Given the description of an element on the screen output the (x, y) to click on. 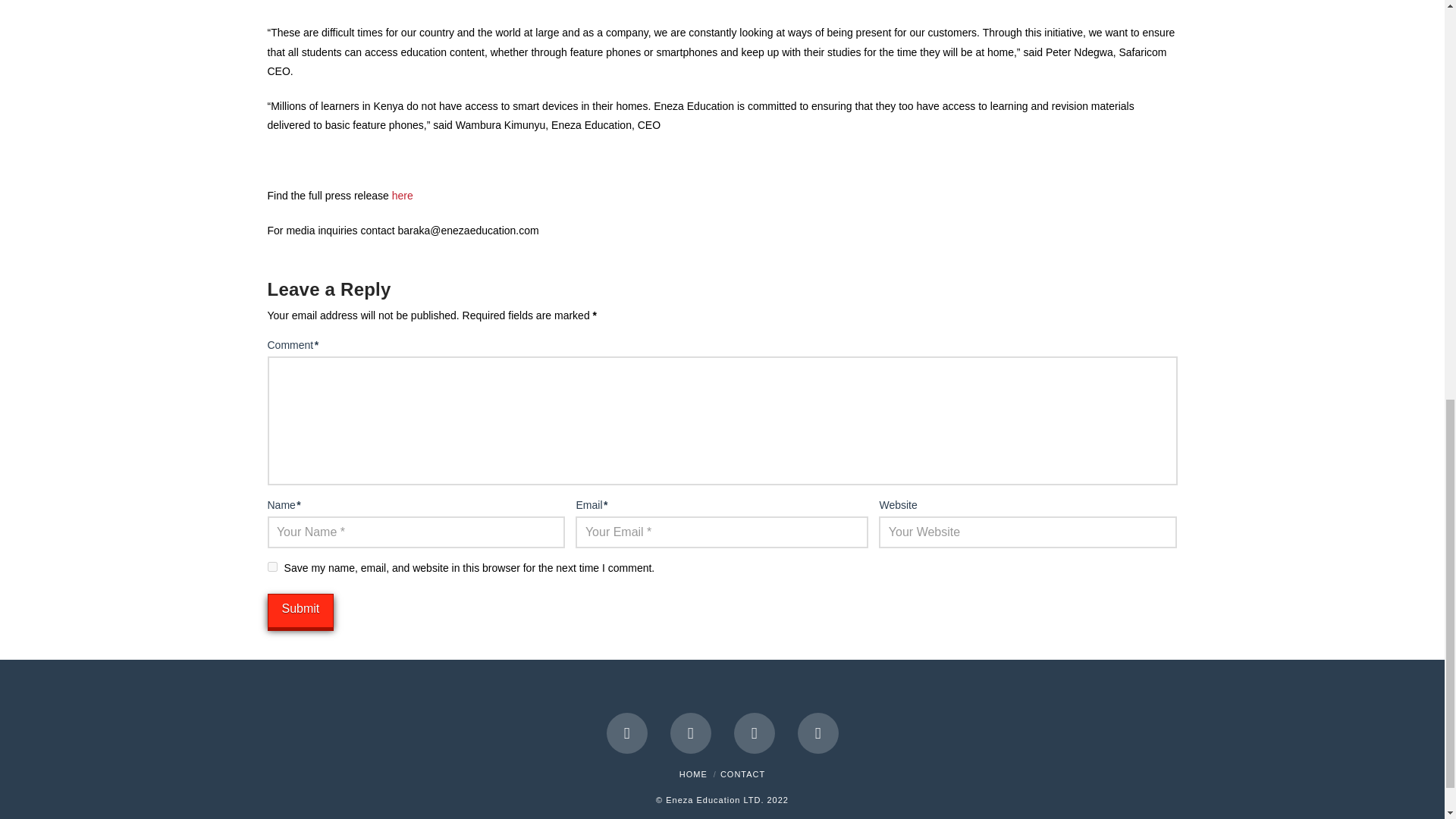
Instagram (817, 732)
here (402, 195)
Facebook (627, 732)
Submit (299, 610)
yes (271, 566)
Submit (299, 610)
CONTACT (742, 773)
LinkedIn (753, 732)
HOME (693, 773)
